Given the description of an element on the screen output the (x, y) to click on. 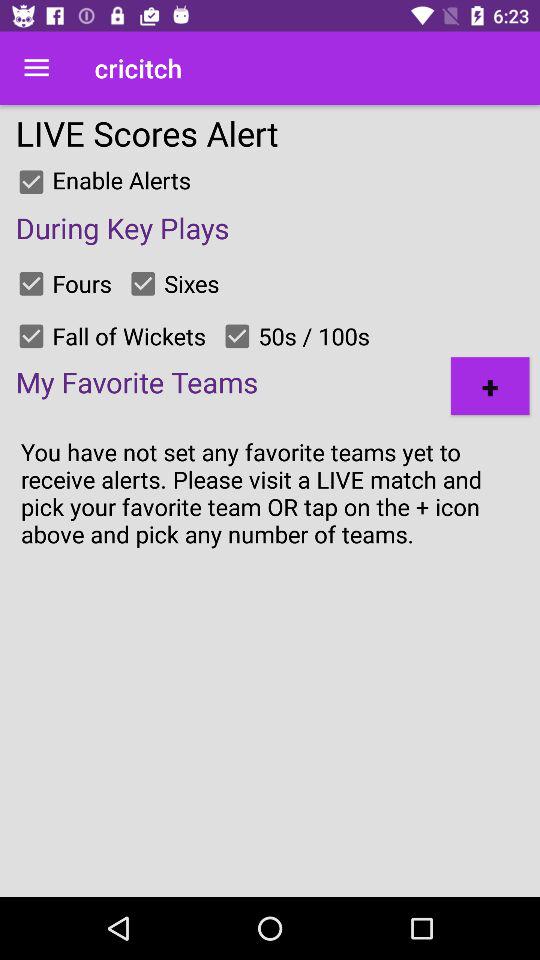
switch fours option (31, 283)
